Given the description of an element on the screen output the (x, y) to click on. 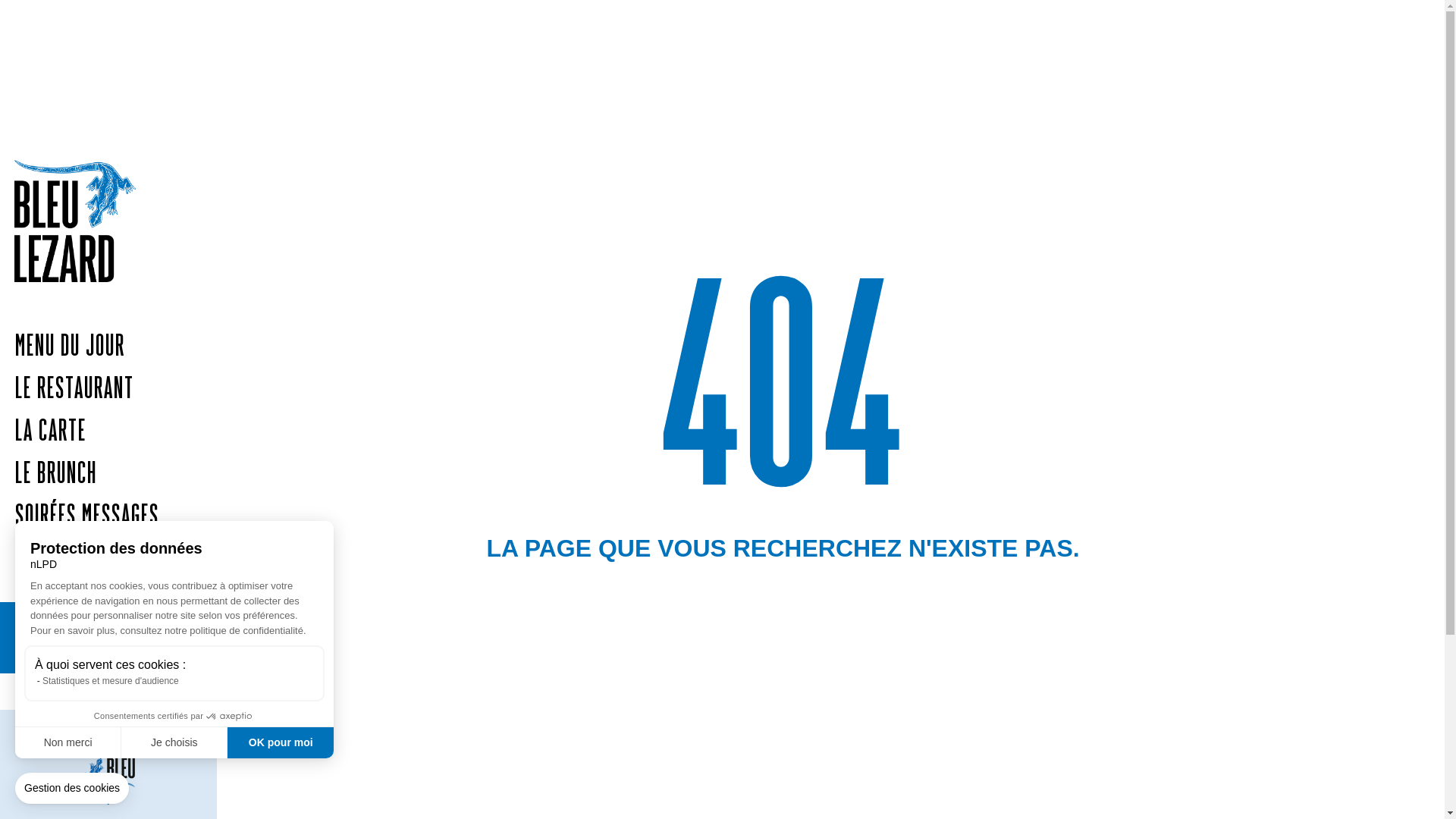
CONTACT Element type: text (108, 559)
LE RESTAURANT Element type: text (108, 390)
LA CARTE Element type: text (108, 432)
MENU DU JOUR Element type: text (108, 347)
LE BRUNCH Element type: text (108, 475)
